Given the description of an element on the screen output the (x, y) to click on. 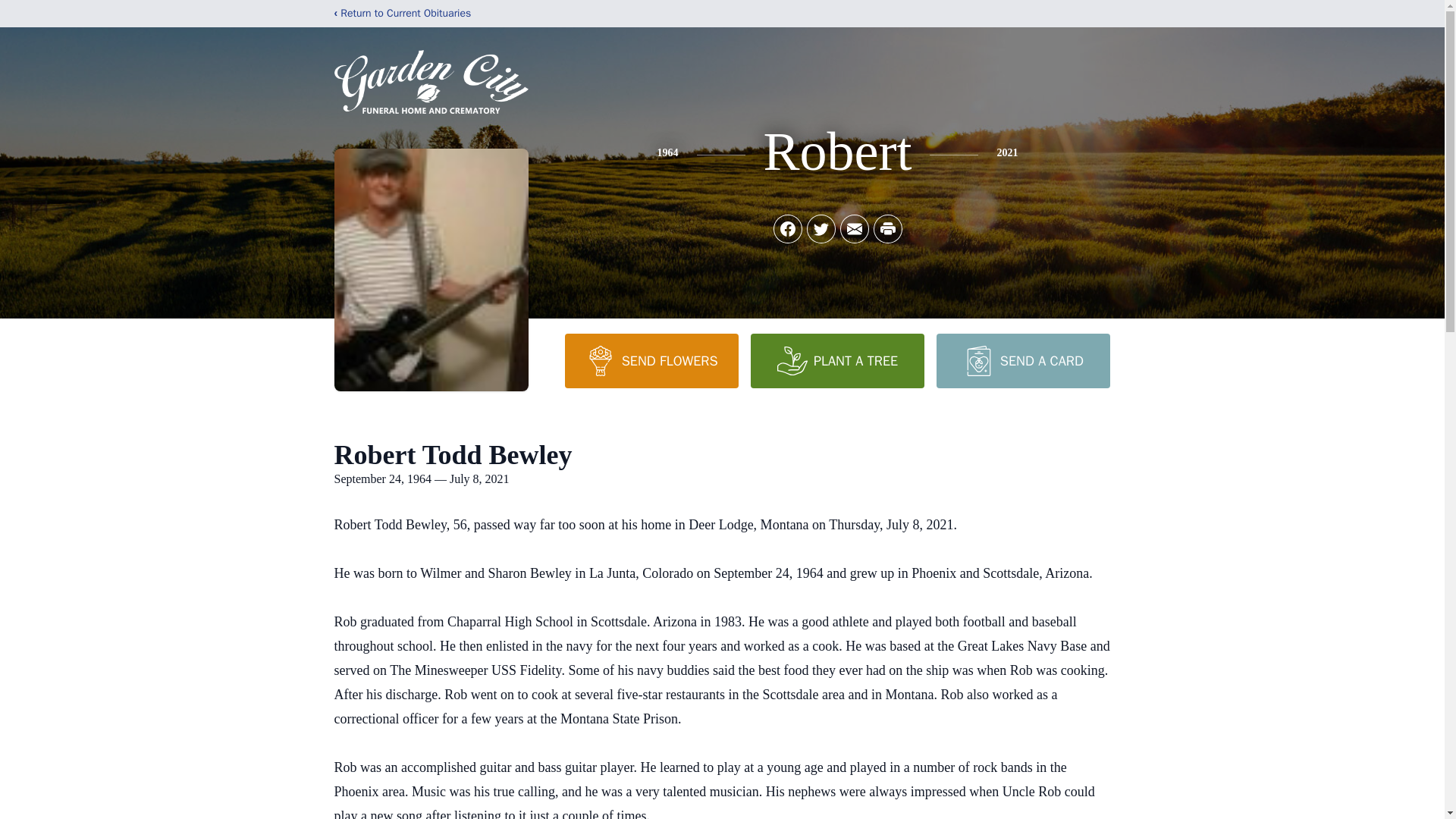
SEND A CARD (1022, 360)
SEND FLOWERS (651, 360)
PLANT A TREE (837, 360)
